Given the description of an element on the screen output the (x, y) to click on. 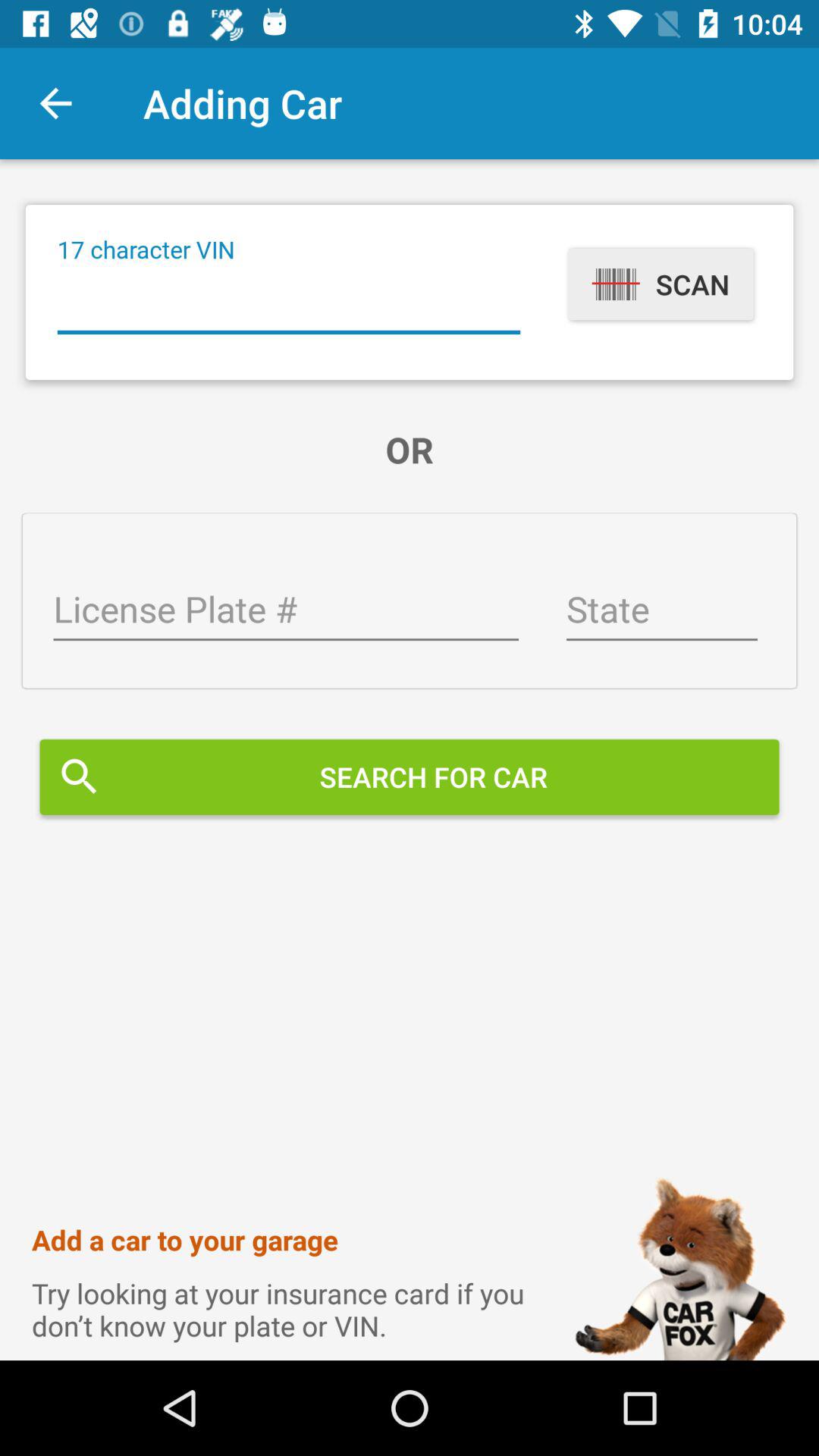
code enter (288, 303)
